Given the description of an element on the screen output the (x, y) to click on. 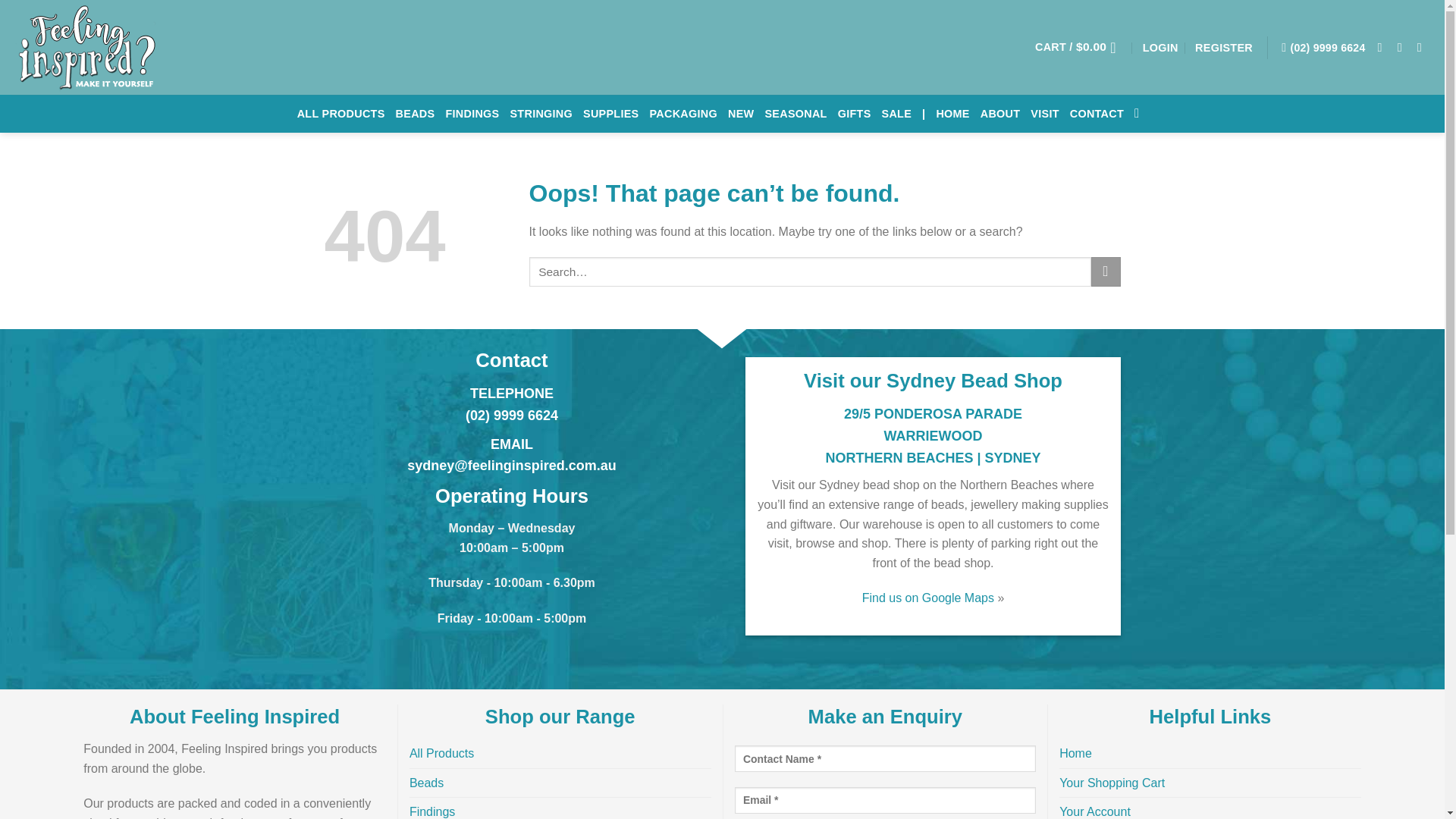
STRINGING Element type: text (540, 113)
(02) 9999 6624 Element type: text (511, 415)
| Element type: text (923, 113)
SEASONAL Element type: text (795, 113)
REGISTER Element type: text (1223, 46)
Follow on Instagram Element type: hover (1403, 46)
LOGIN Element type: text (1160, 46)
FINDINGS Element type: text (471, 113)
VISIT Element type: text (1044, 113)
Find us on Google Maps Element type: text (927, 597)
SUPPLIES Element type: text (610, 113)
sydney@feelinginspired.com.au Element type: text (511, 465)
Send us an email Element type: hover (1423, 46)
ABOUT Element type: text (1000, 113)
GIFTS Element type: text (854, 113)
ALL PRODUCTS Element type: text (341, 113)
BEADS Element type: text (415, 113)
HOME Element type: text (952, 113)
Home Element type: text (1075, 753)
CONTACT Element type: text (1096, 113)
PACKAGING Element type: text (683, 113)
CART / $0.00 Element type: text (1080, 46)
Beads Element type: text (426, 782)
(02) 9999 6624 Element type: text (1323, 47)
Your Shopping Cart Element type: text (1111, 782)
Follow on Facebook Element type: hover (1383, 46)
SALE Element type: text (896, 113)
All Products Element type: text (441, 753)
NEW Element type: text (740, 113)
